Given the description of an element on the screen output the (x, y) to click on. 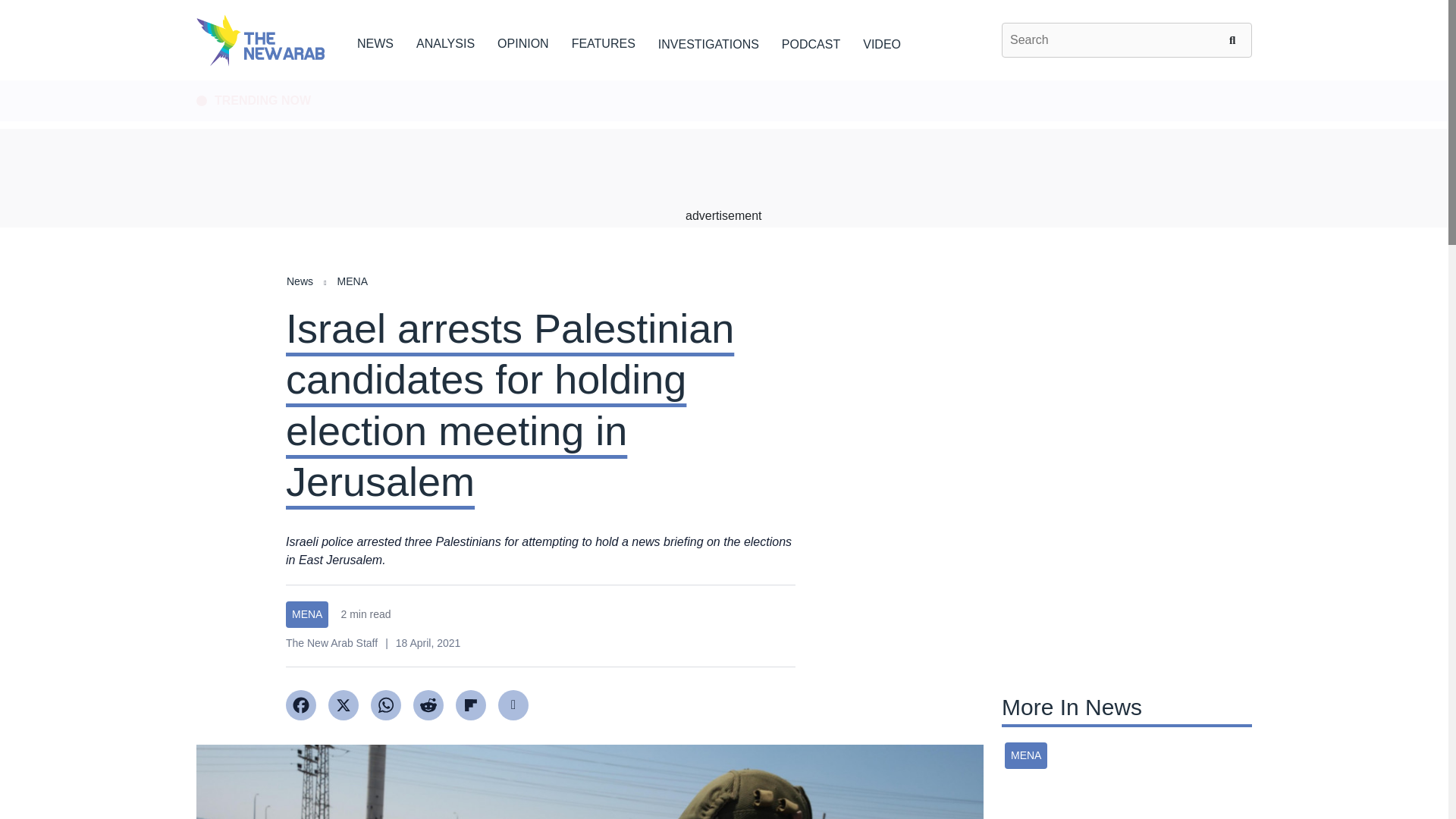
OPINION (523, 41)
NEWS (375, 41)
ANALYSIS (445, 41)
Search (1234, 39)
Skip to main content (724, 81)
